Given the description of an element on the screen output the (x, y) to click on. 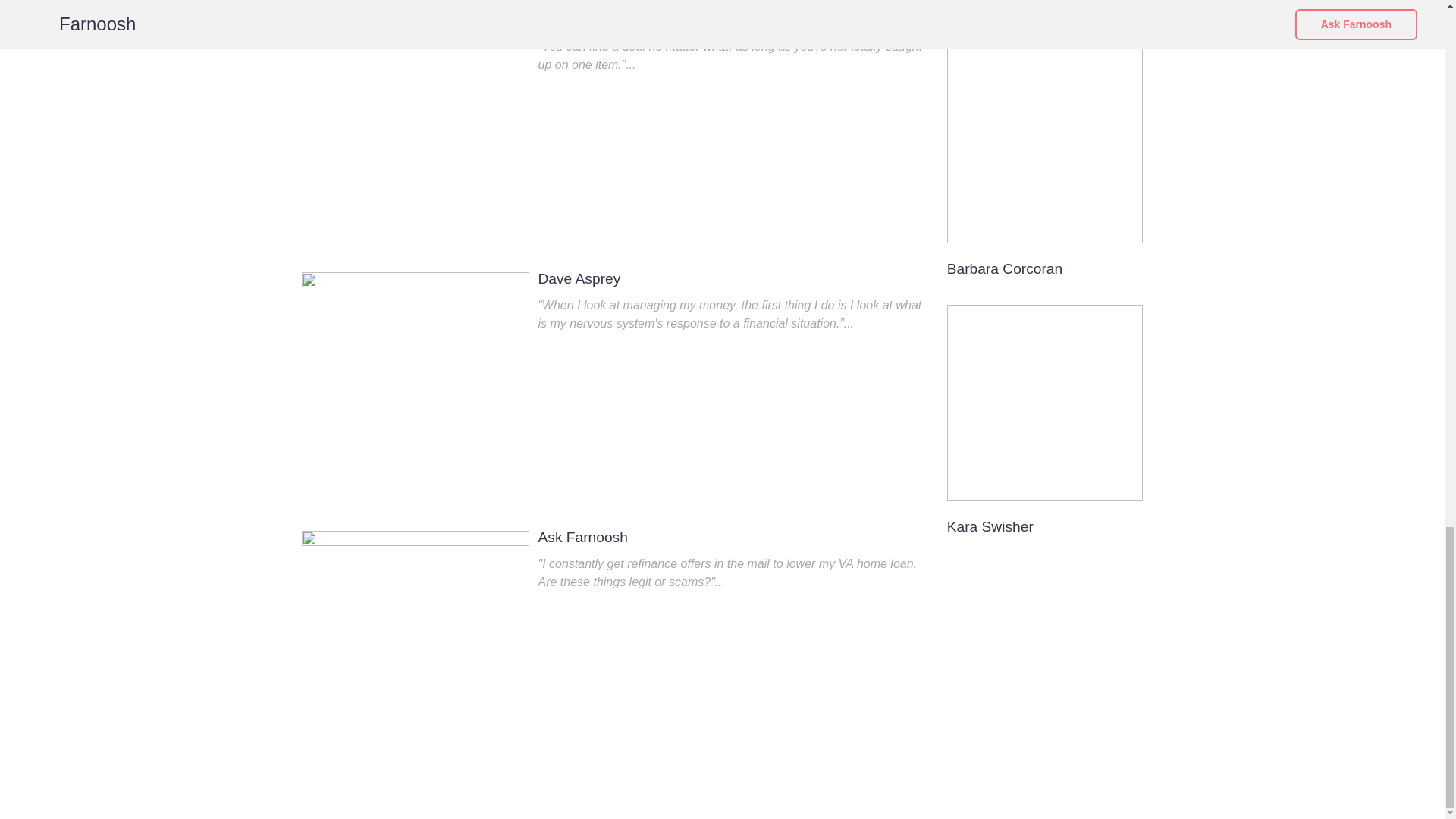
Queen Latifa (988, 11)
Rebecca Jarvis (587, 21)
Ask Farnoosh (582, 537)
Dave Asprey (579, 278)
